Given the description of an element on the screen output the (x, y) to click on. 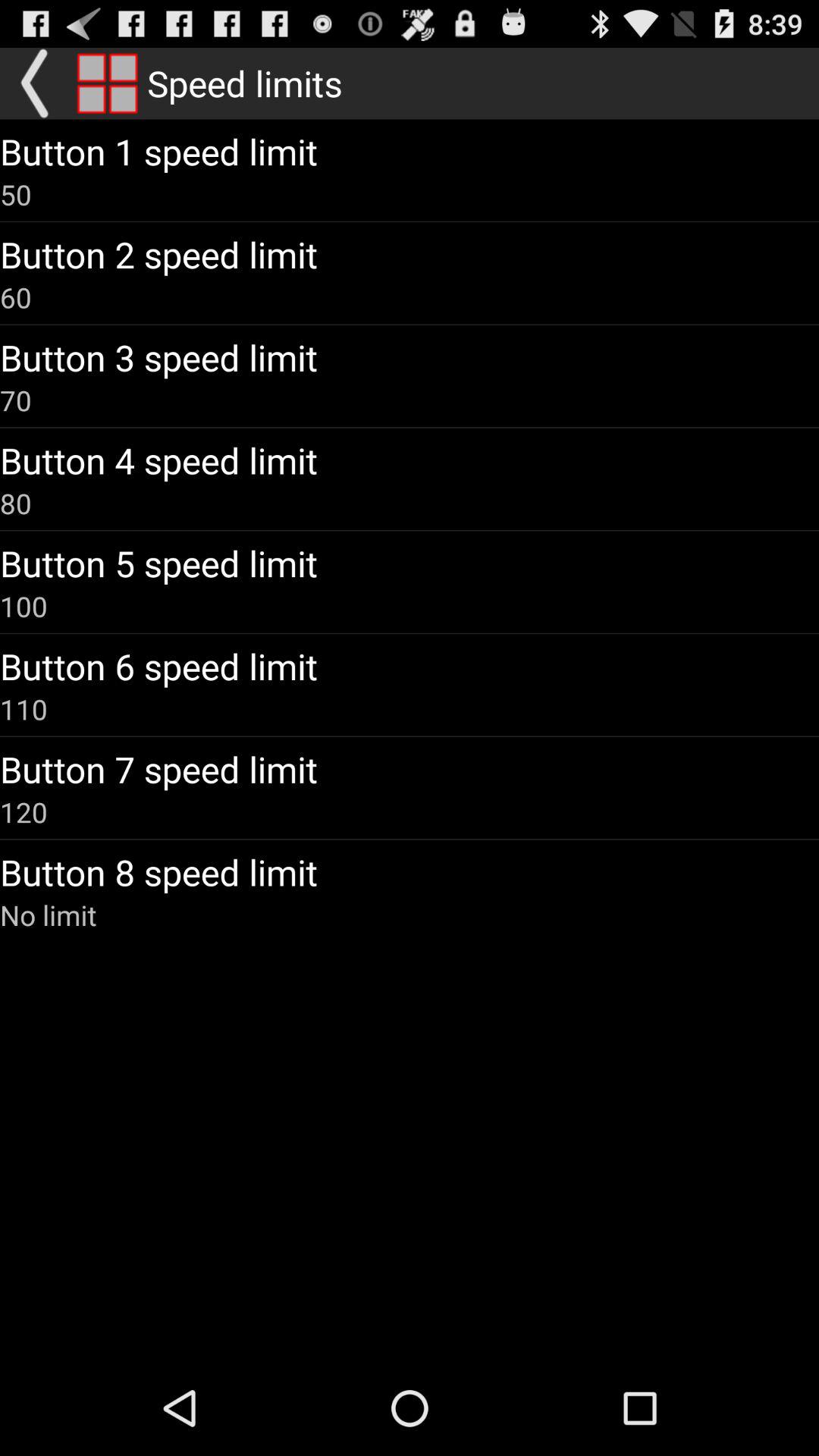
turn off the app above the button 3 speed app (15, 297)
